Given the description of an element on the screen output the (x, y) to click on. 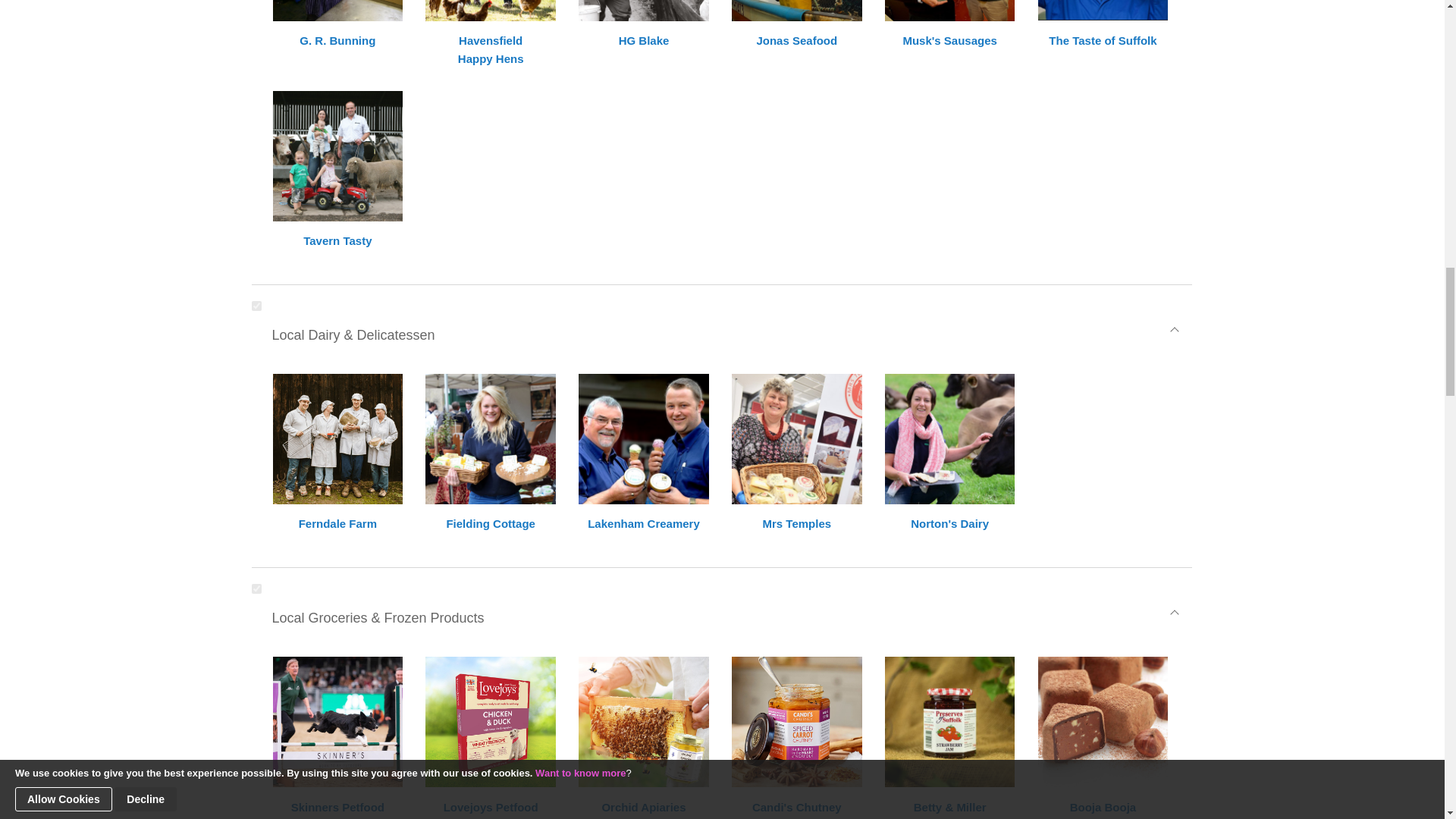
on (256, 306)
on (256, 588)
